Given the description of an element on the screen output the (x, y) to click on. 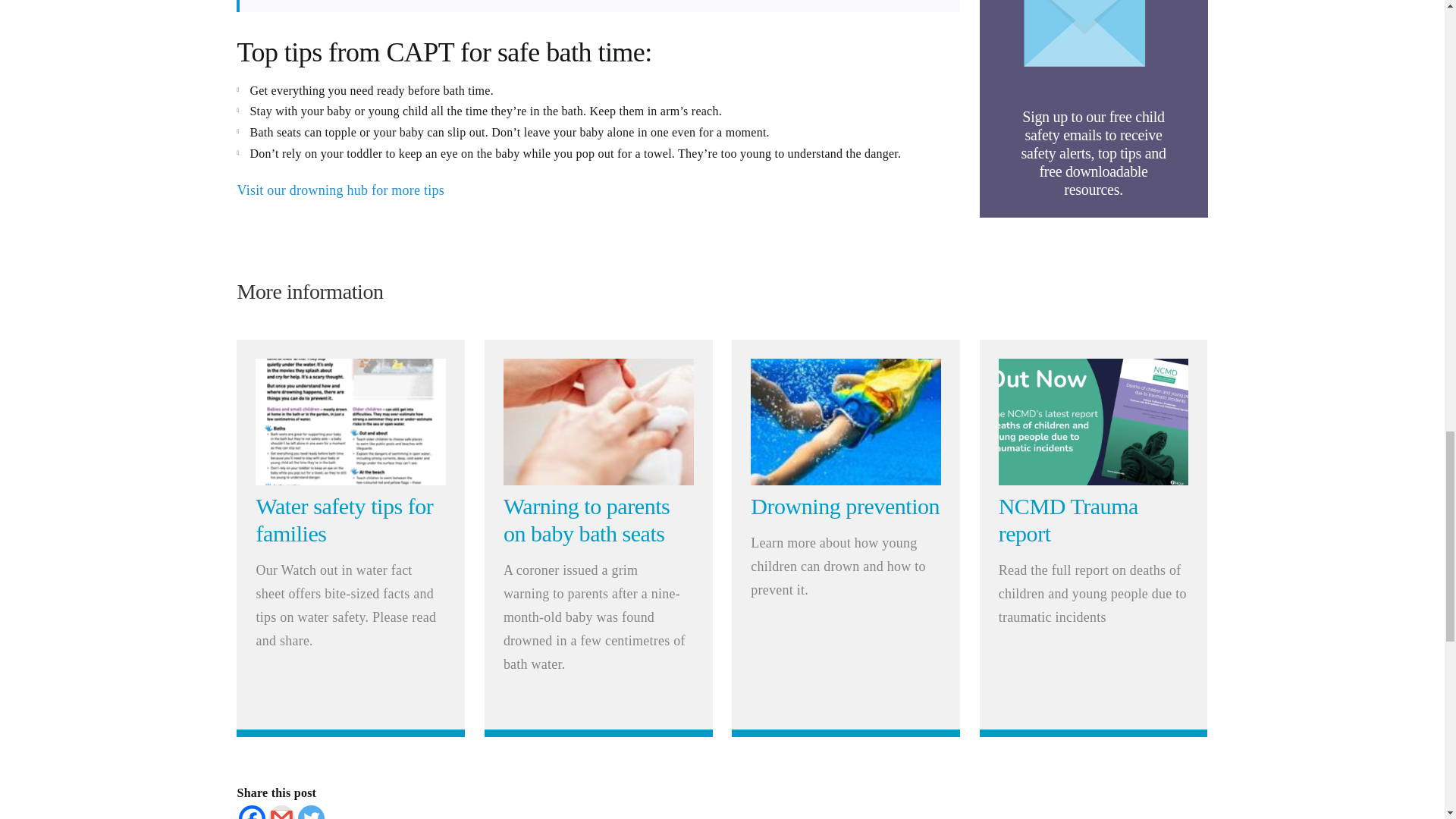
Child bath seats (598, 421)
Facebook (251, 812)
Visit our drowning hub for more tips (339, 190)
NCMD trauma report-min (1093, 421)
Drowning (845, 421)
